Given the description of an element on the screen output the (x, y) to click on. 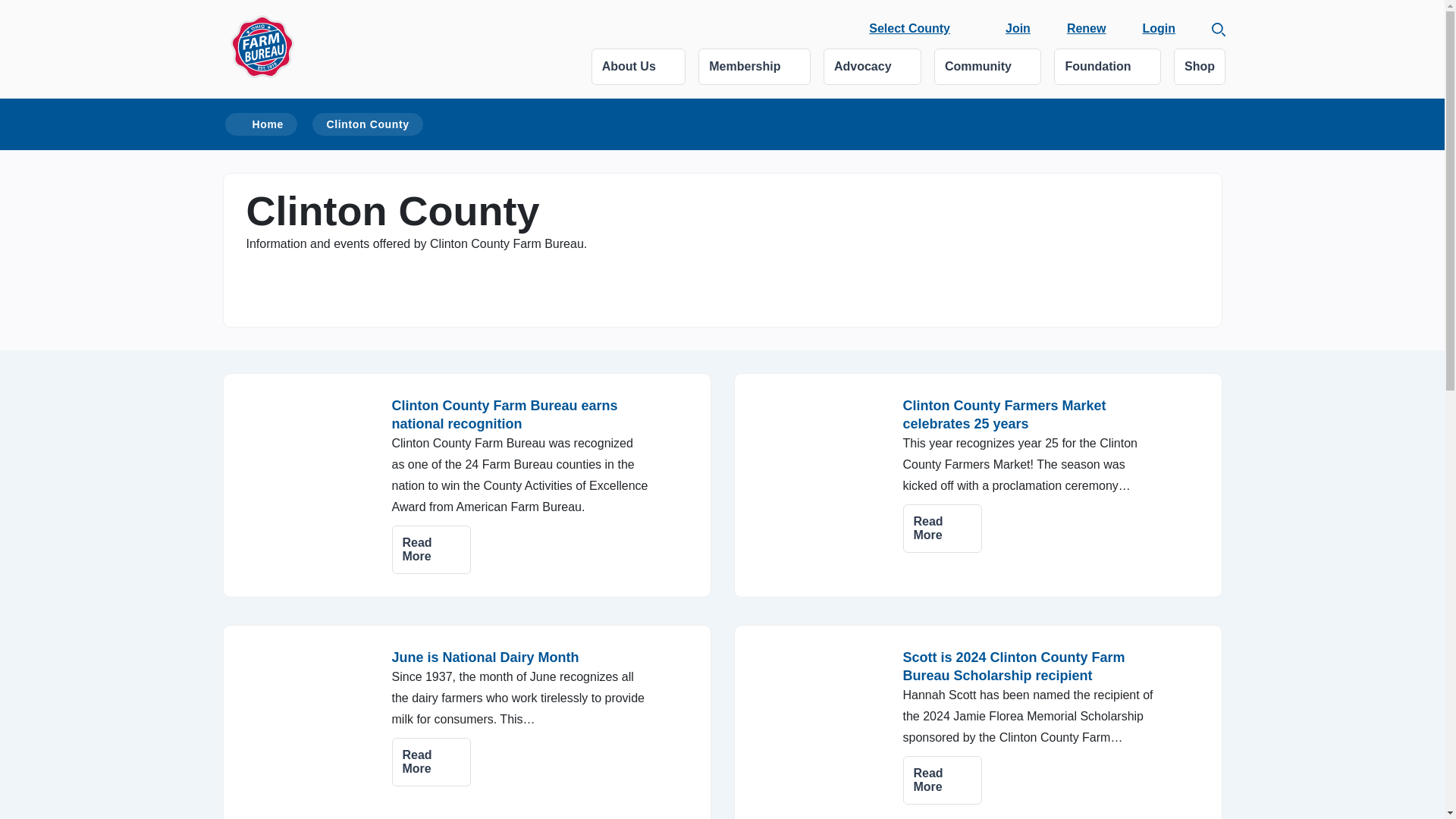
Renew (1086, 28)
Select County (909, 28)
